Given the description of an element on the screen output the (x, y) to click on. 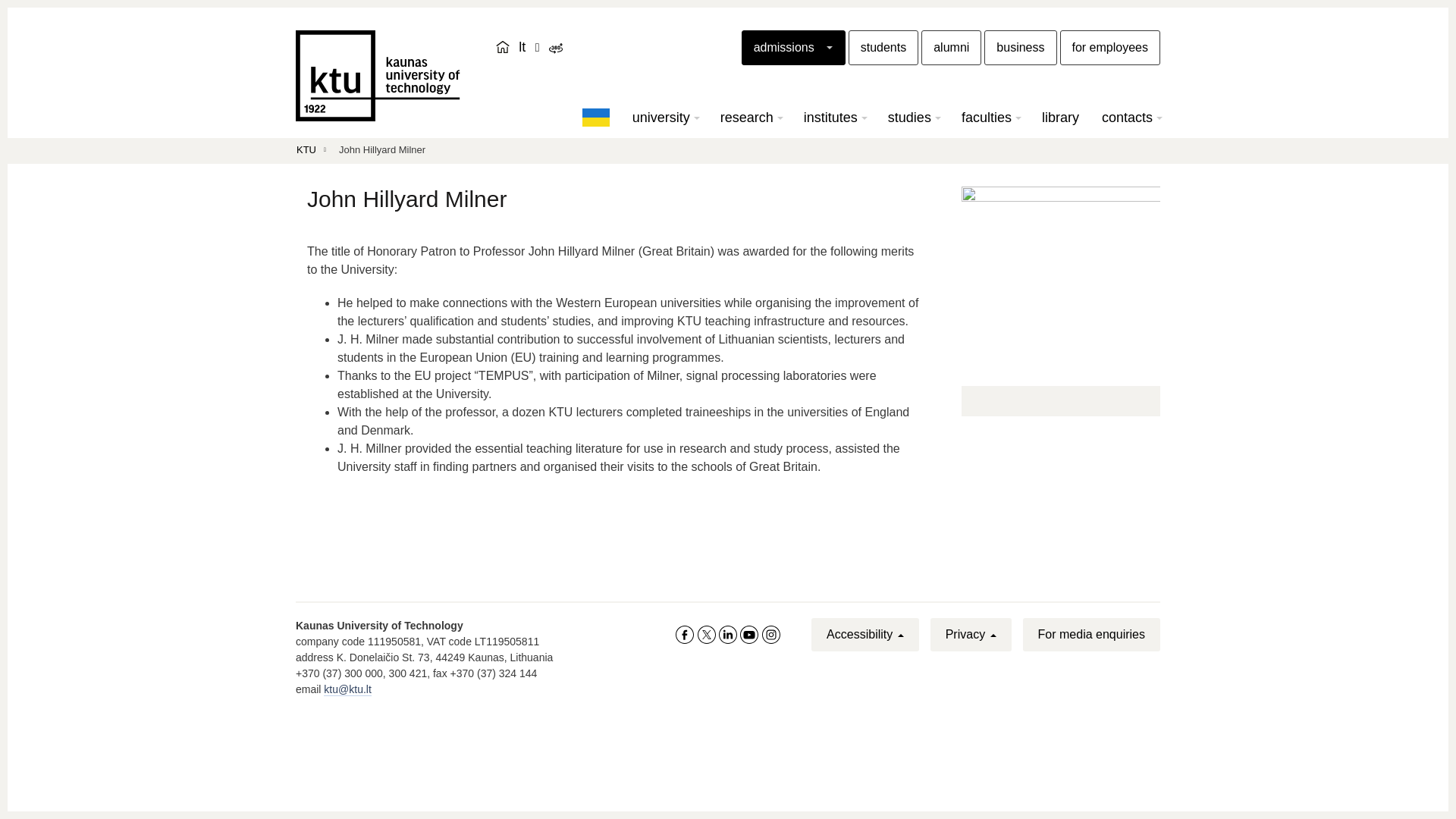
students (883, 47)
alumni (951, 47)
university (665, 117)
admissions (793, 47)
admissions (793, 47)
business (1020, 47)
KTU Virtual Tour (555, 48)
for employees (1109, 47)
Kaunas University of Technology (377, 75)
students (883, 47)
